Given the description of an element on the screen output the (x, y) to click on. 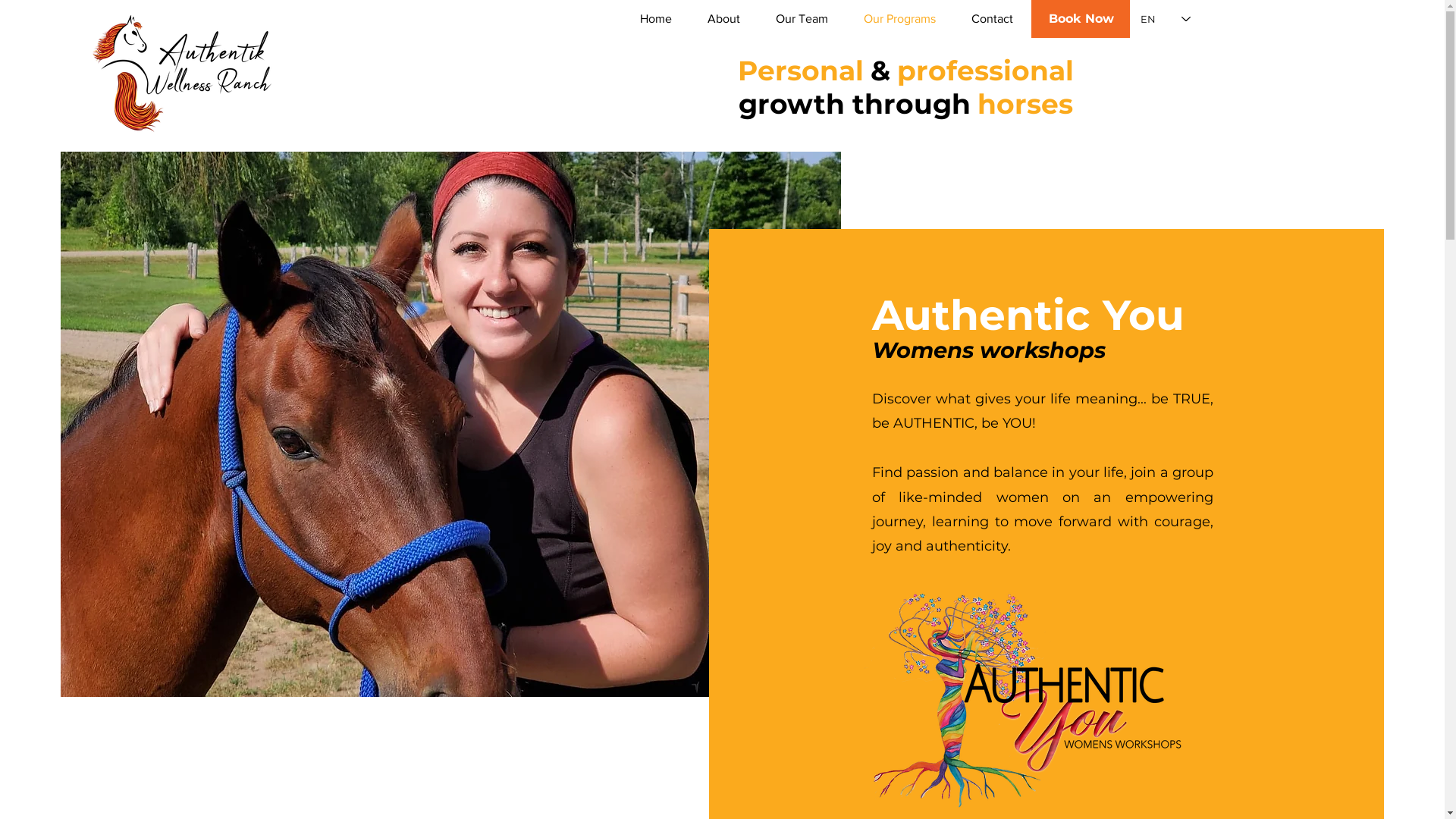
Logo of a Horse for Authentik Wellness Ranch Element type: hover (185, 72)
Our Team Element type: text (801, 18)
Home Element type: text (655, 18)
About Element type: text (723, 18)
Contact Element type: text (991, 18)
Our Programs Element type: text (899, 18)
Book Now Element type: text (1081, 18)
